Given the description of an element on the screen output the (x, y) to click on. 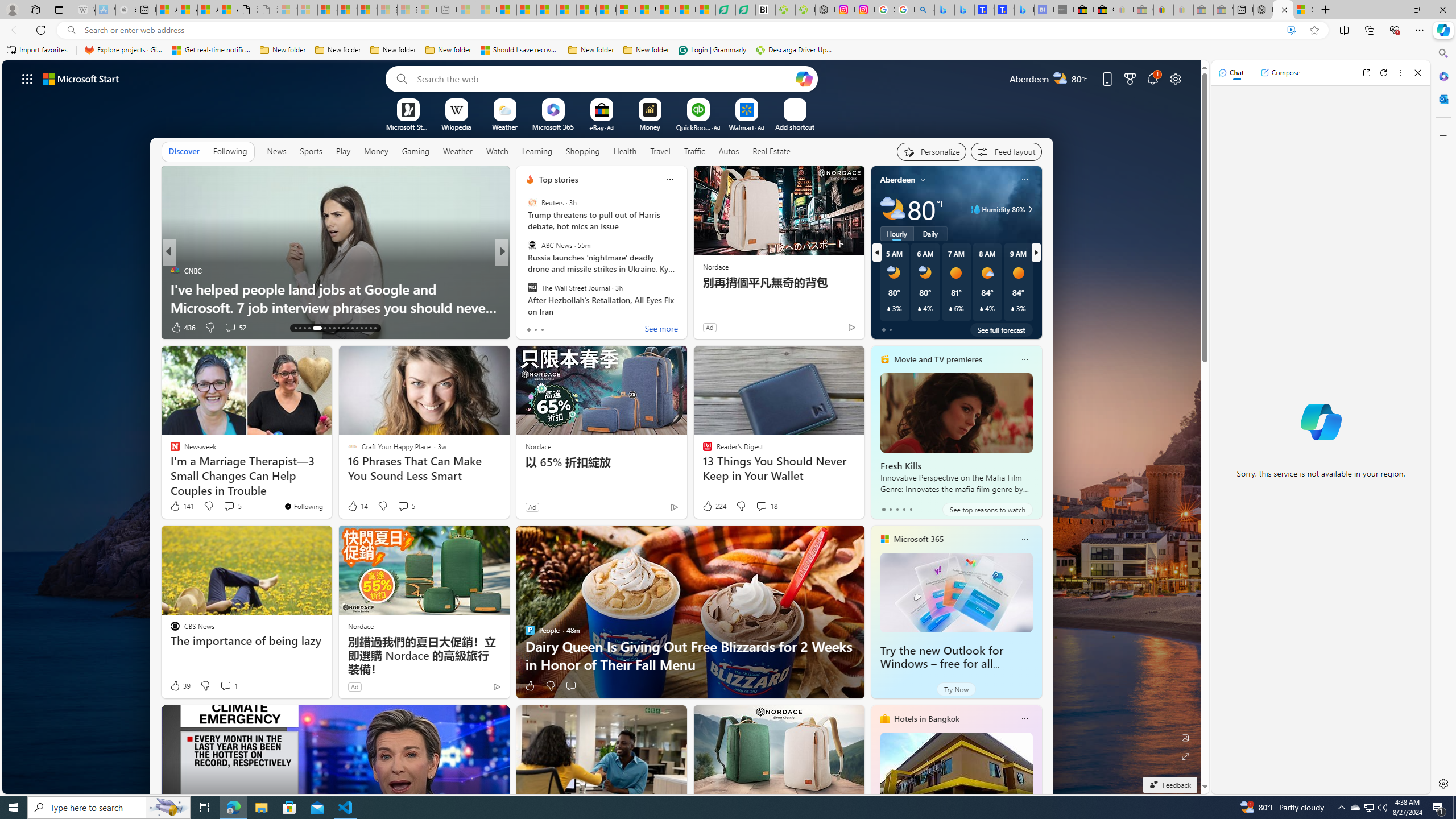
View comments 70 Comment (580, 327)
previous (876, 252)
CNBC (524, 270)
7 Like (529, 327)
View comments 325 Comment (587, 327)
